Given the description of an element on the screen output the (x, y) to click on. 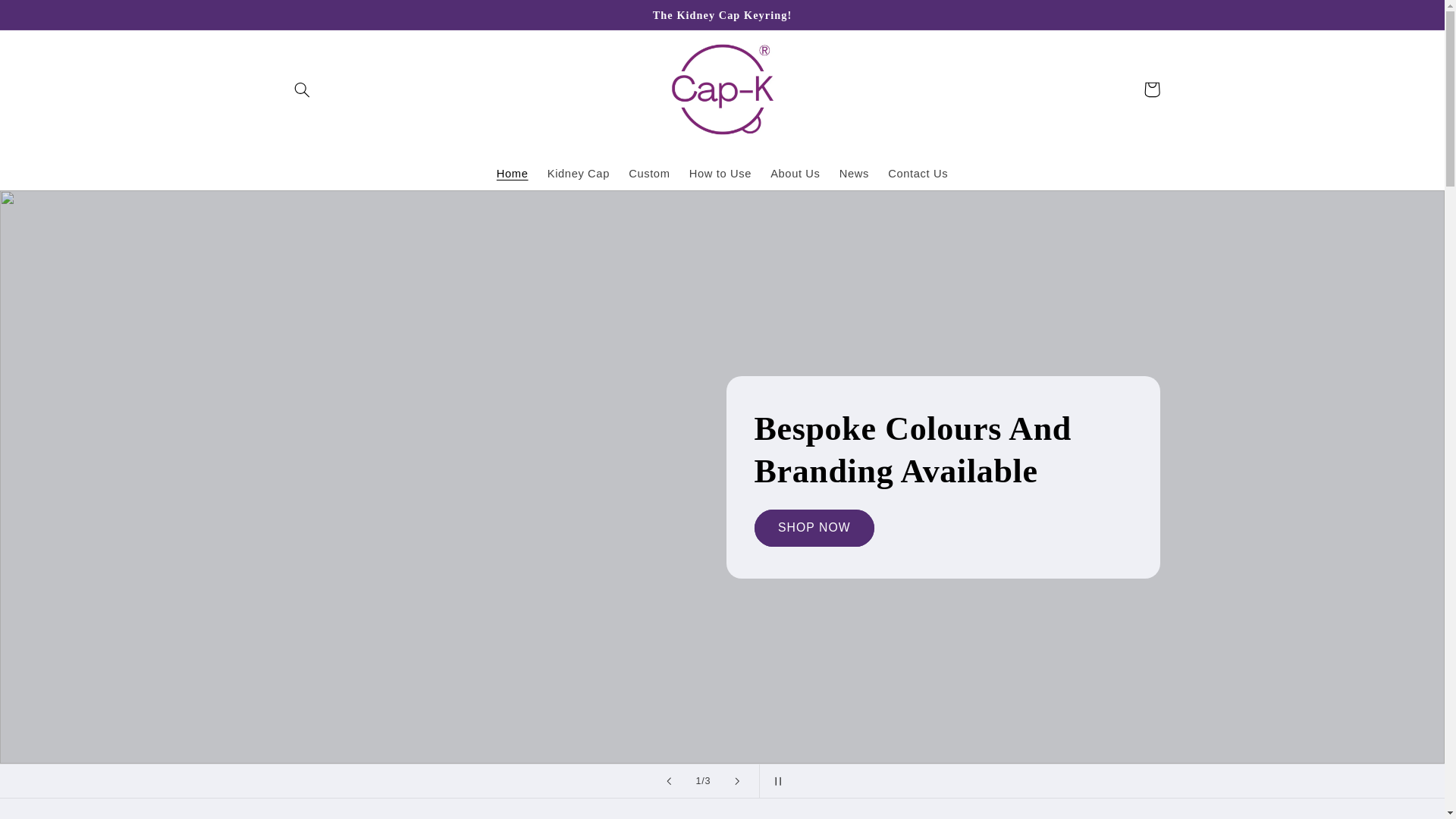
Skip to content (48, 18)
Home (511, 173)
Custom (649, 173)
Contact Us (918, 173)
About Us (795, 173)
Kidney Cap (577, 173)
SHOP NOW (814, 528)
Cart (1151, 89)
News (853, 173)
How to Use (719, 173)
